Given the description of an element on the screen output the (x, y) to click on. 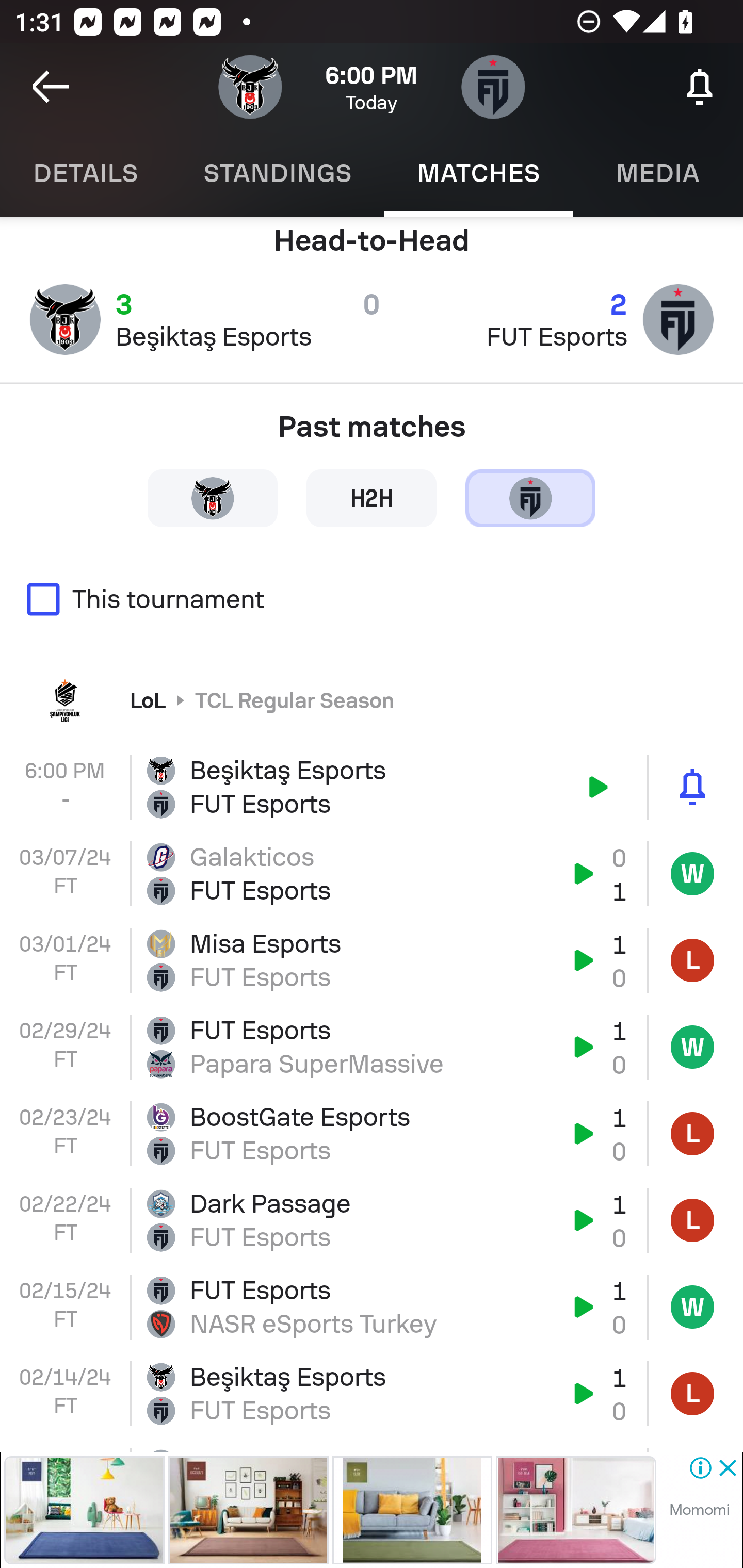
Navigate up (50, 86)
Details DETAILS (85, 173)
Standings STANDINGS (277, 173)
Media MEDIA (657, 173)
H2H (371, 497)
This tournament (371, 599)
LoL TCL Regular Season (371, 699)
6:00 PM - Beşiktaş Esports FUT Esports (371, 787)
03/07/24 FT Galakticos FUT Esports 0 1 W (371, 874)
03/01/24 FT Misa Esports FUT Esports 1 0 L (371, 960)
02/29/24 FT FUT Esports Papara SuperMassive 1 0 W (371, 1046)
02/23/24 FT BoostGate Esports FUT Esports 1 0 L (371, 1133)
02/22/24 FT Dark Passage FUT Esports 1 0 L (371, 1220)
02/15/24 FT FUT Esports NASR eSports Turkey 1 0 W (371, 1306)
02/14/24 FT Beşiktaş Esports FUT Esports 1 0 L (371, 1393)
Momomi (699, 1509)
